Given the description of an element on the screen output the (x, y) to click on. 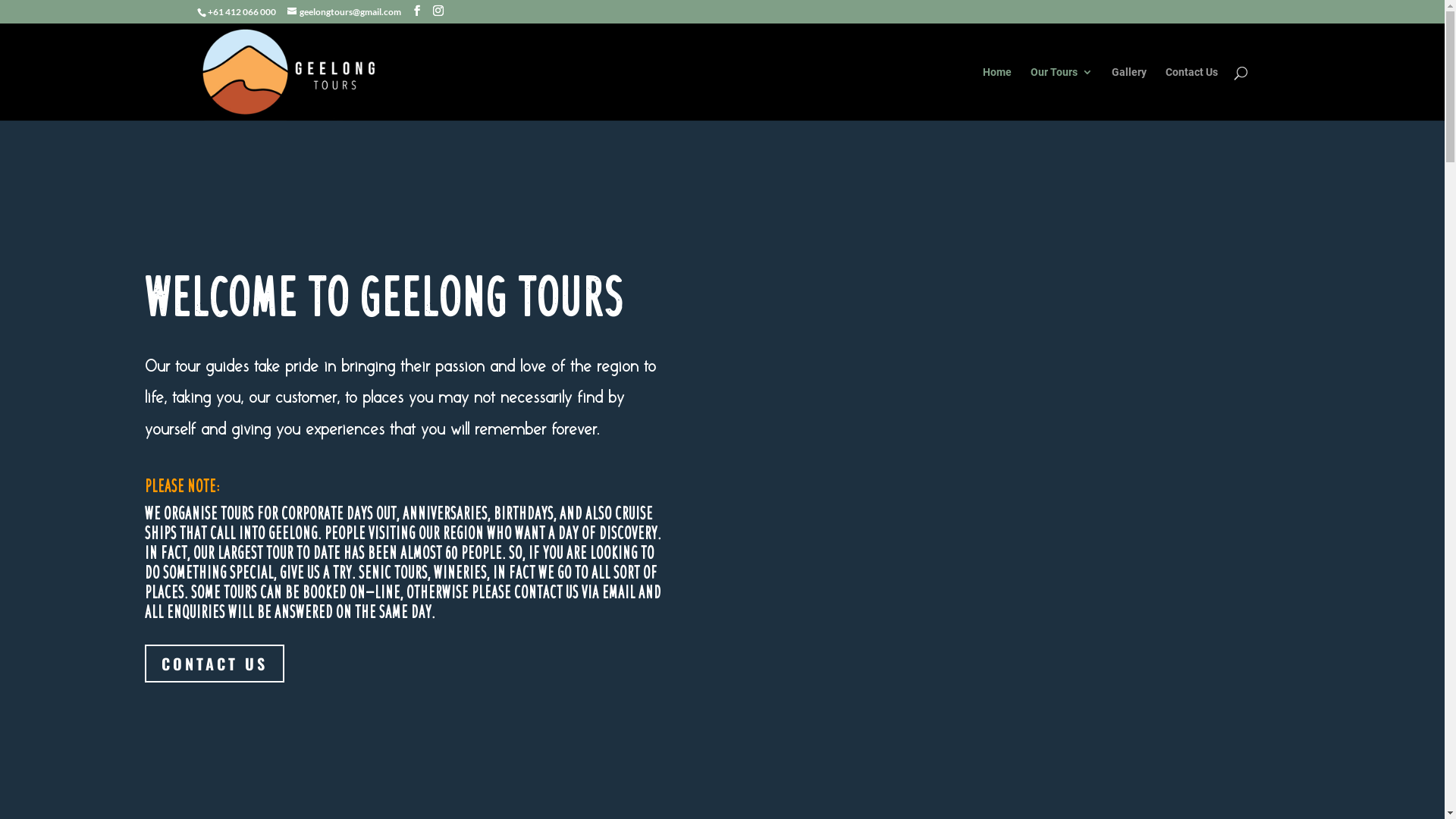
geelongtours@gmail.com Element type: text (343, 11)
Gallery Element type: text (1128, 93)
Contact Us Element type: text (1190, 93)
Home Element type: text (996, 93)
CONTACT US Element type: text (213, 663)
Our Tours Element type: text (1060, 93)
